Given the description of an element on the screen output the (x, y) to click on. 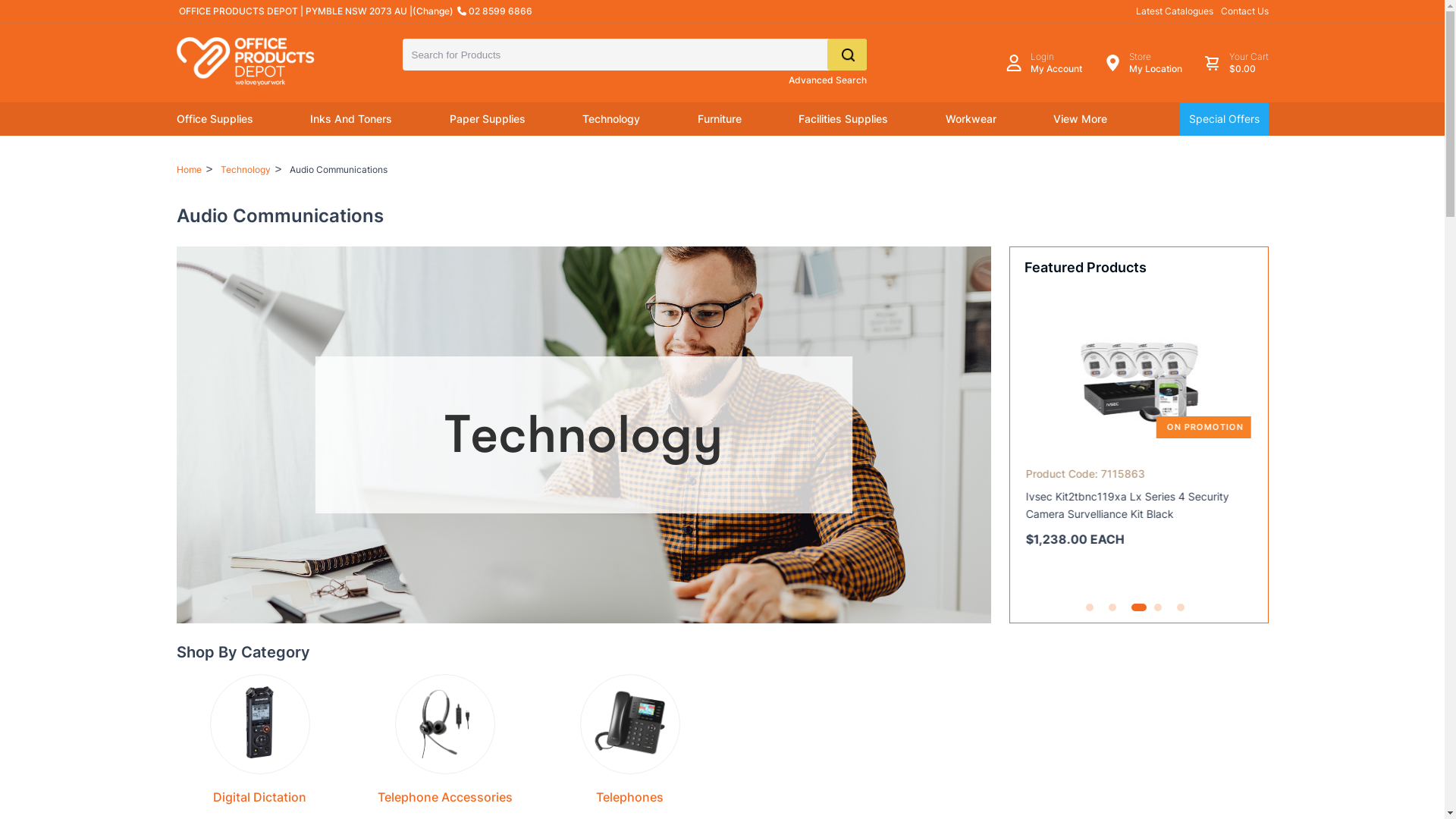
View More Element type: text (1080, 118)
Search Element type: hover (846, 54)
Facilities Supplies Element type: text (843, 118)
Store
My
Location Element type: text (1141, 62)
Digital Dictation Element type: text (259, 796)
Technology Element type: text (245, 169)
BENQ MS560 SVGA MEETING ROOM PROJECTOR WHITE Element type: hover (1138, 376)
3 Element type: text (1135, 607)
Office Products Depot Element type: hover (258, 61)
2 Element type: text (1112, 607)
5 Element type: text (1180, 607)
Telephone Accessories Element type: text (444, 796)
Latest Catalogues Element type: text (1174, 10)
Your Cart
$0.00 Element type: text (1234, 62)
Telephones Element type: text (629, 796)
Special Offers Element type: text (1223, 118)
Inks And Toners Element type: text (351, 118)
Workwear Element type: text (969, 118)
1 Element type: text (1089, 607)
Advanced Search Element type: text (827, 79)
4 Element type: text (1157, 607)
Contact Us Element type: text (1244, 10)
454784 Element type: text (7, 7)
Home Element type: text (187, 169)
Login
My
Account Element type: text (1042, 62)
Paper Supplies Element type: text (486, 118)
(Change) Element type: text (432, 11)
Furniture Element type: text (719, 118)
Technology Element type: text (611, 118)
02 8599 6866 Element type: text (493, 11)
Office Supplies Element type: text (213, 118)
